Given the description of an element on the screen output the (x, y) to click on. 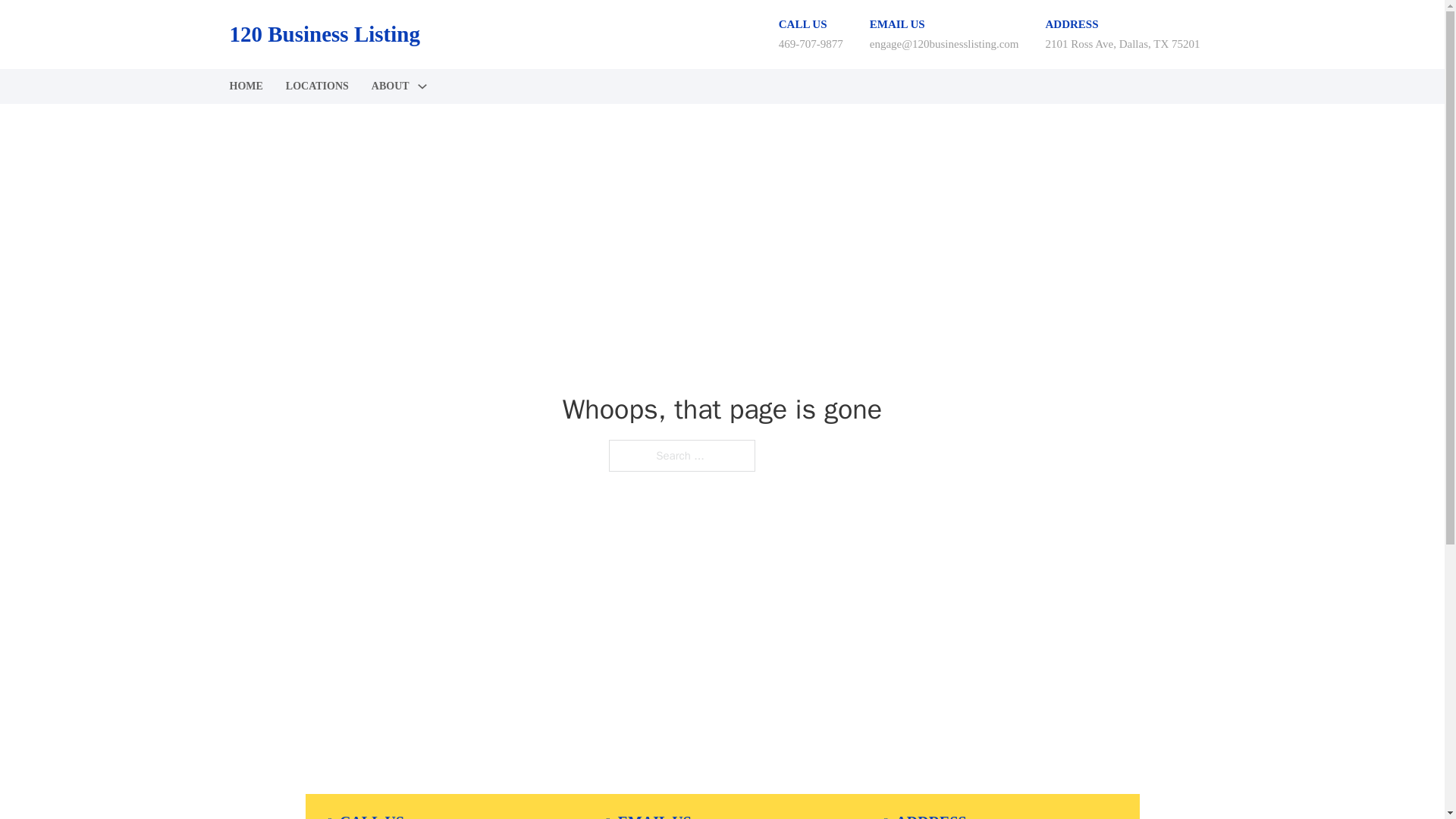
LOCATIONS (317, 85)
HOME (245, 85)
469-707-9877 (810, 43)
120 Business Listing (323, 34)
